Given the description of an element on the screen output the (x, y) to click on. 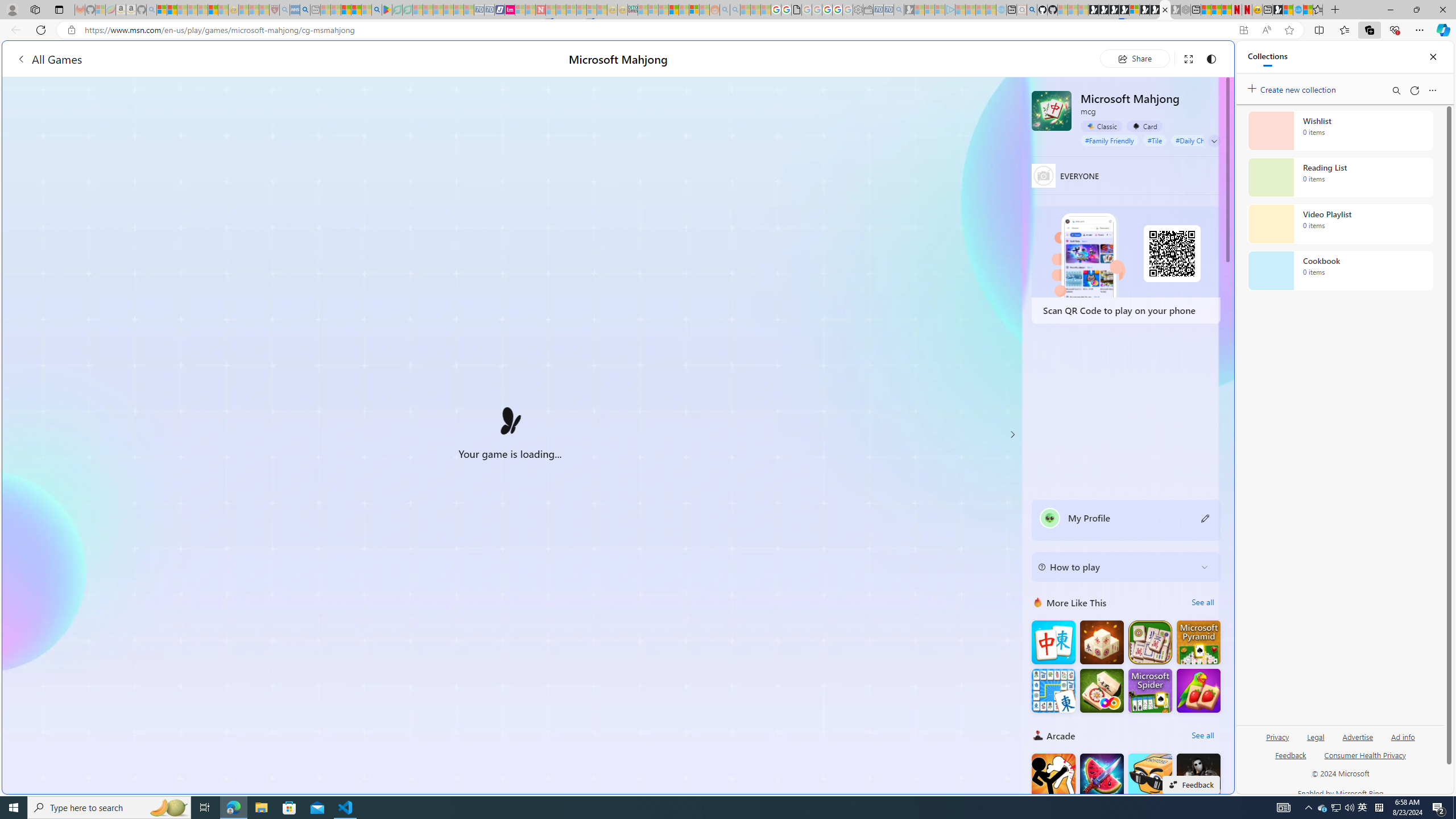
Card (1143, 126)
More options menu (1432, 90)
How to play (1116, 566)
Play Cave FRVR in your browser | Games from Microsoft Start (1113, 9)
